Given the description of an element on the screen output the (x, y) to click on. 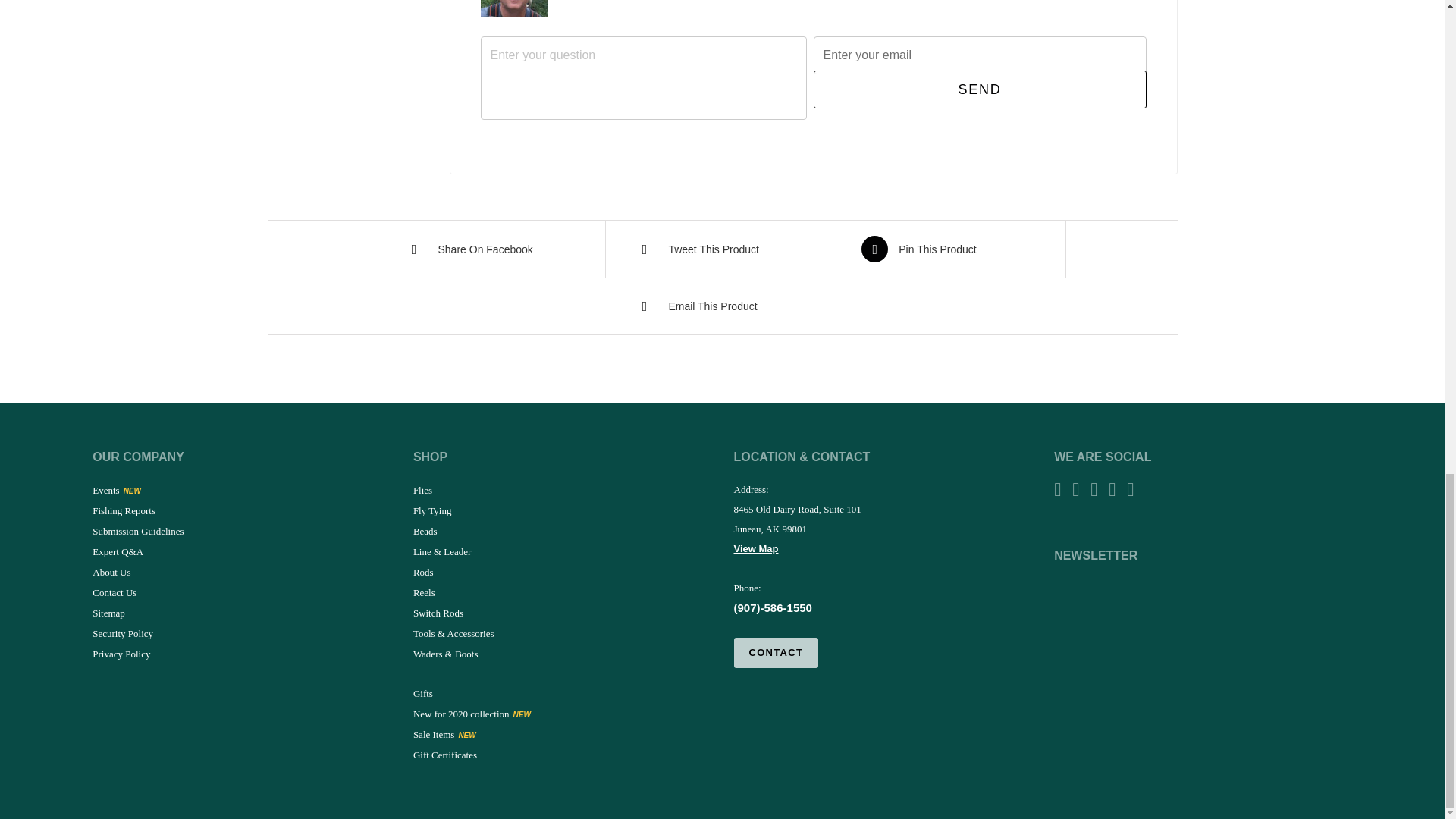
Send (978, 89)
